Given the description of an element on the screen output the (x, y) to click on. 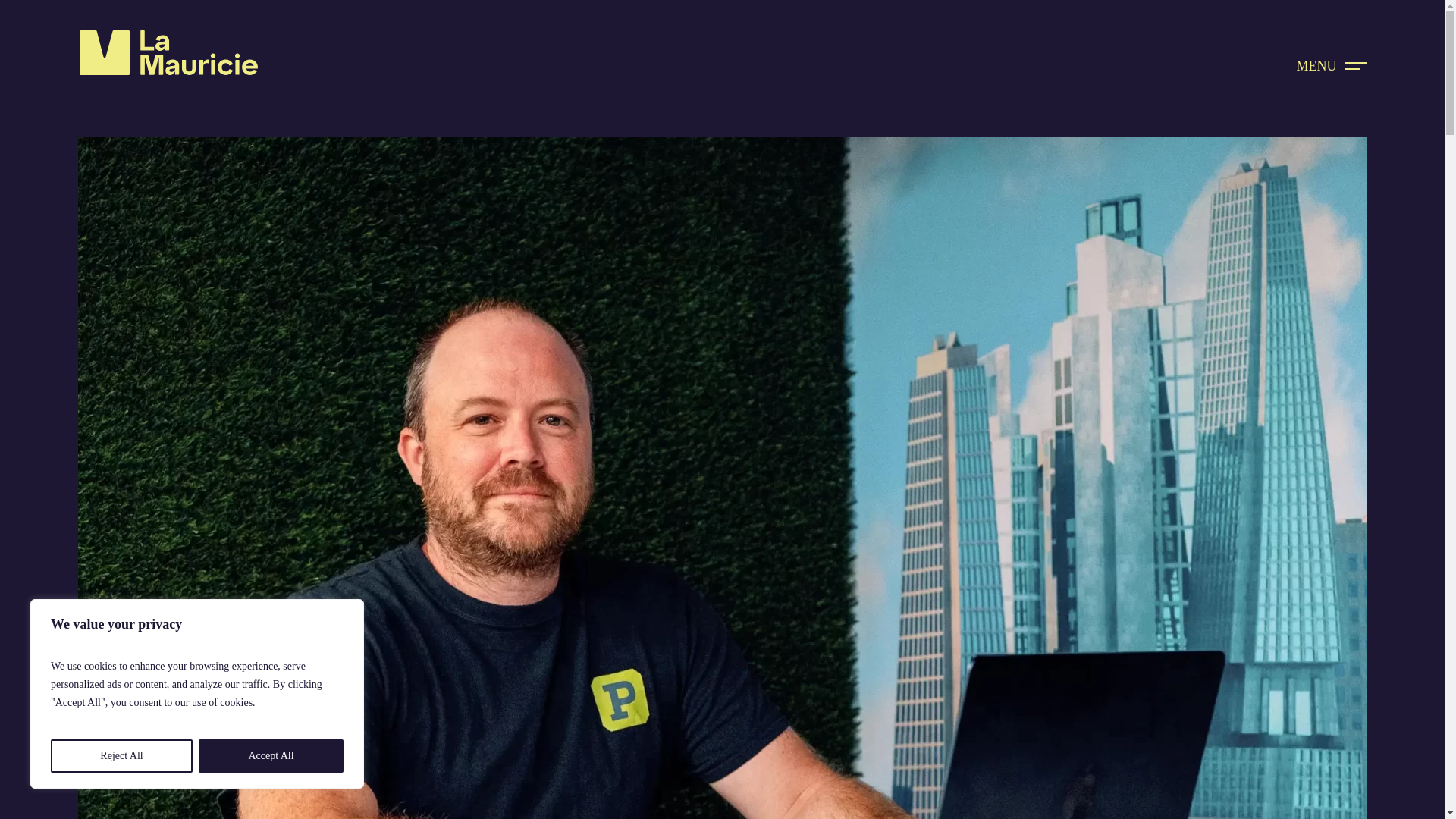
MENU (1332, 65)
Accept All (270, 756)
Reject All (121, 756)
